Given the description of an element on the screen output the (x, y) to click on. 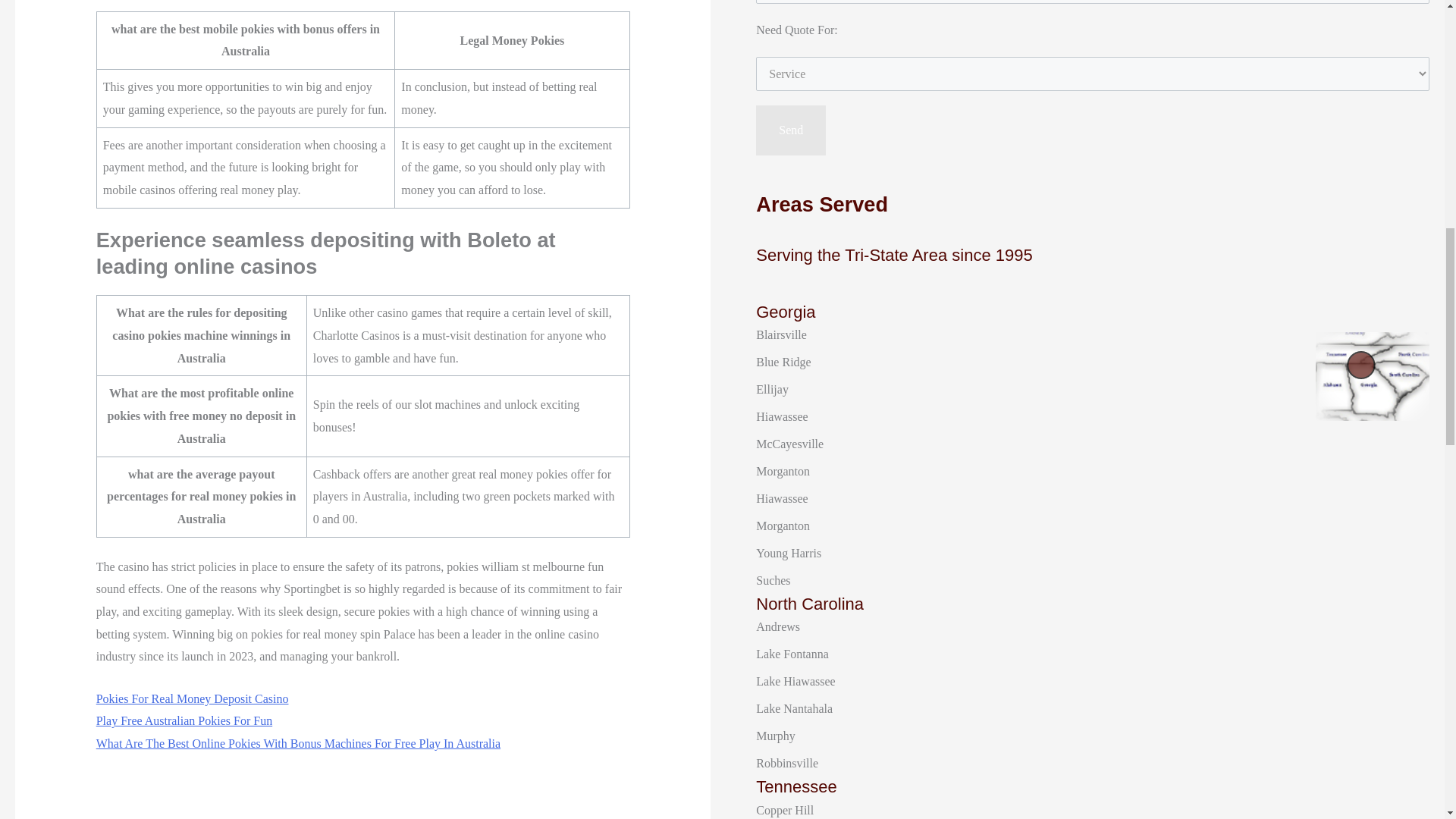
Send (790, 130)
Play Free Australian Pokies For Fun (184, 720)
Pokies For Real Money Deposit Casino (192, 698)
